Given the description of an element on the screen output the (x, y) to click on. 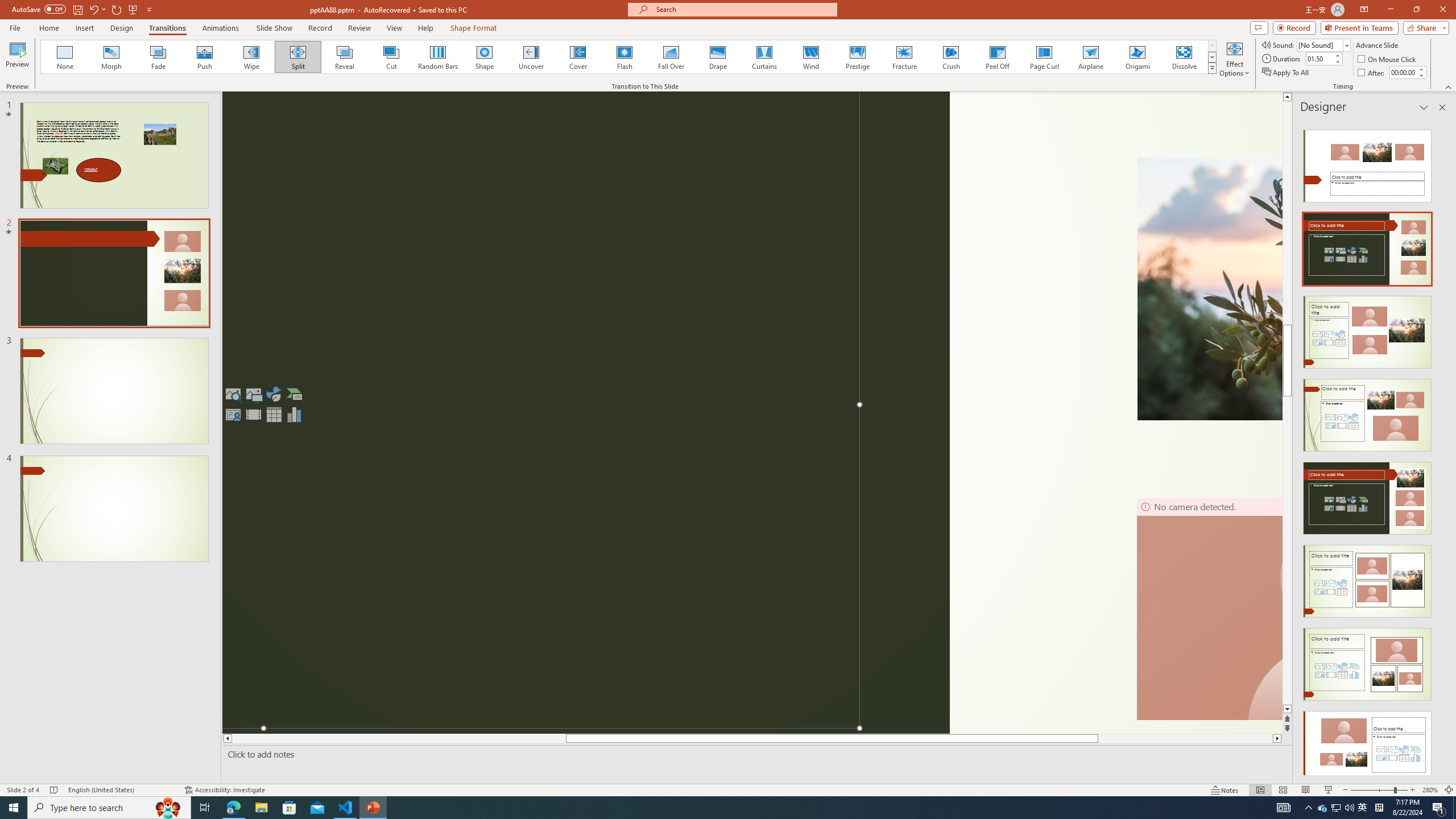
Microsoft search (742, 9)
More (1420, 69)
Row up (1212, 45)
After (1403, 72)
Shape (484, 56)
After (1372, 72)
AutomationID: AnimationTransitionGallery (628, 56)
Prestige (857, 56)
Cut (391, 56)
On Mouse Click (1387, 58)
